Given the description of an element on the screen output the (x, y) to click on. 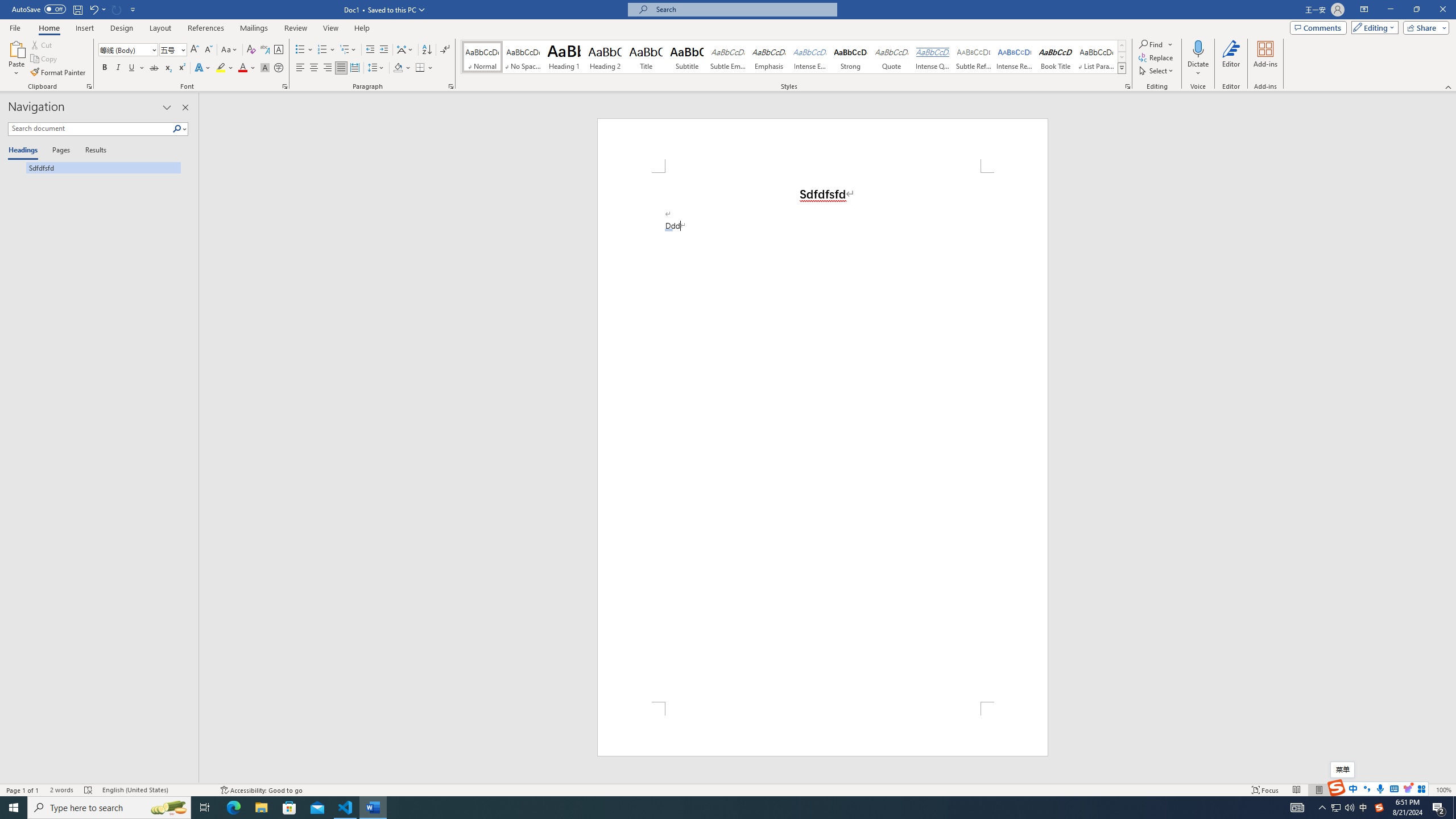
Intense Emphasis (809, 56)
Heading 2 (605, 56)
Sdfdfsfd (94, 167)
Page Number Page 1 of 1 (22, 790)
